Given the description of an element on the screen output the (x, y) to click on. 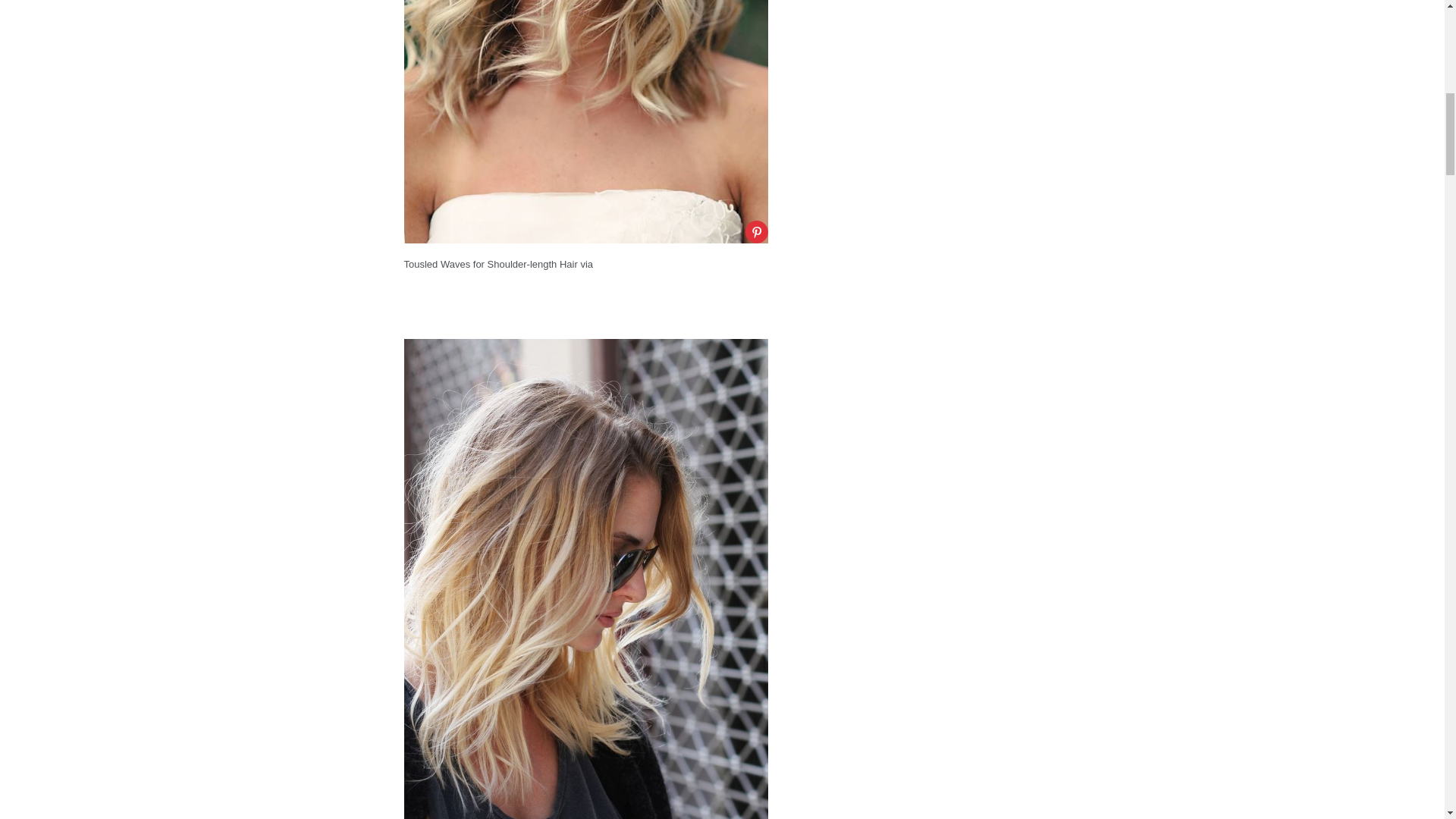
via (585, 264)
